Given the description of an element on the screen output the (x, y) to click on. 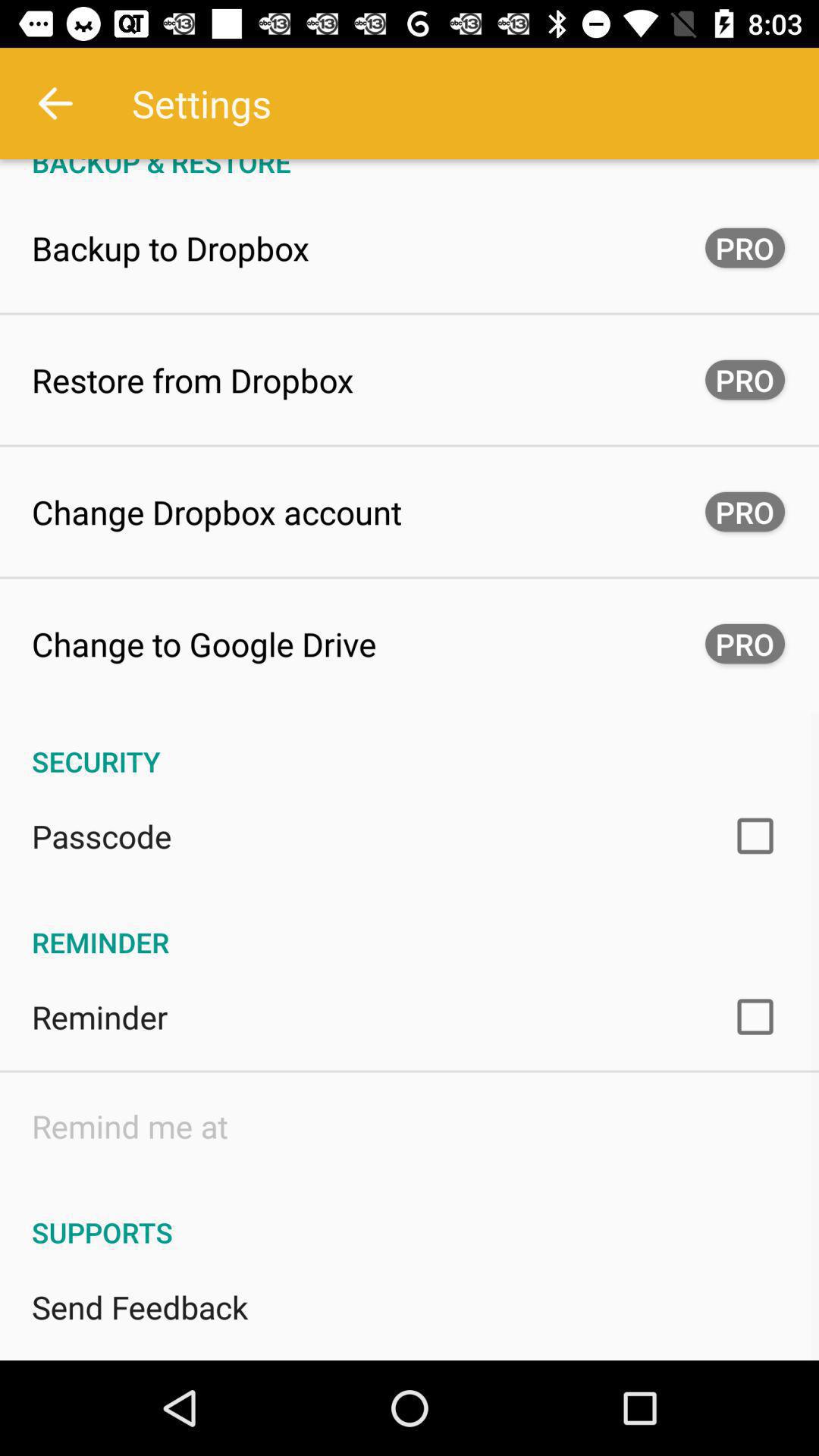
tap the item below the reminder icon (129, 1125)
